Given the description of an element on the screen output the (x, y) to click on. 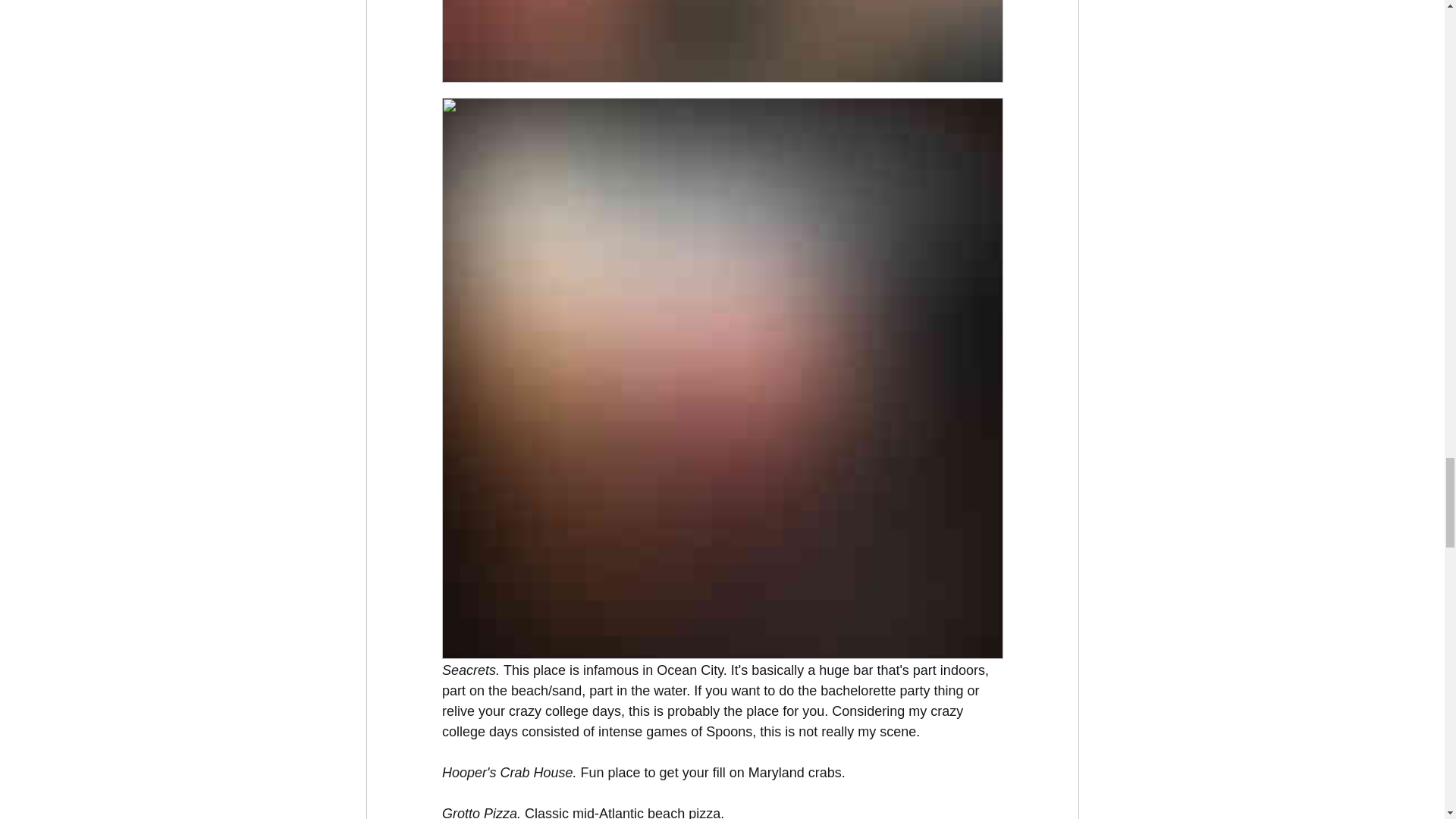
Grotto Pizza (478, 812)
Hooper's Crab House (506, 772)
Seacrets (468, 670)
